Given the description of an element on the screen output the (x, y) to click on. 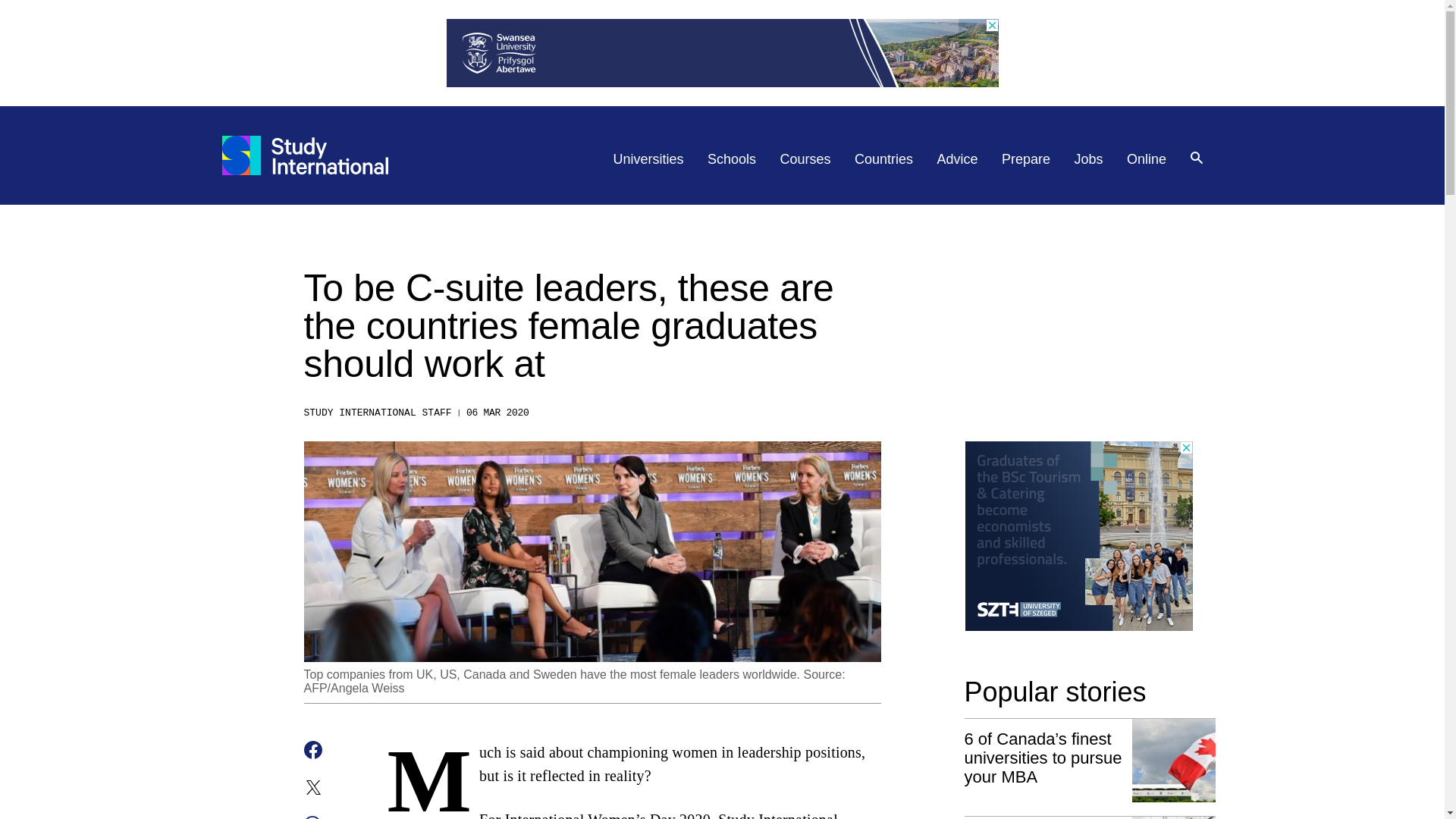
Countries (883, 159)
3rd party ad content (721, 52)
Courses (805, 159)
Schools (731, 159)
Advice (957, 159)
3rd party ad content (1078, 535)
Online (1146, 159)
Jobs (1088, 159)
Prepare (1025, 159)
Universities (648, 159)
STUDY INTERNATIONAL STAFF (376, 412)
